Given the description of an element on the screen output the (x, y) to click on. 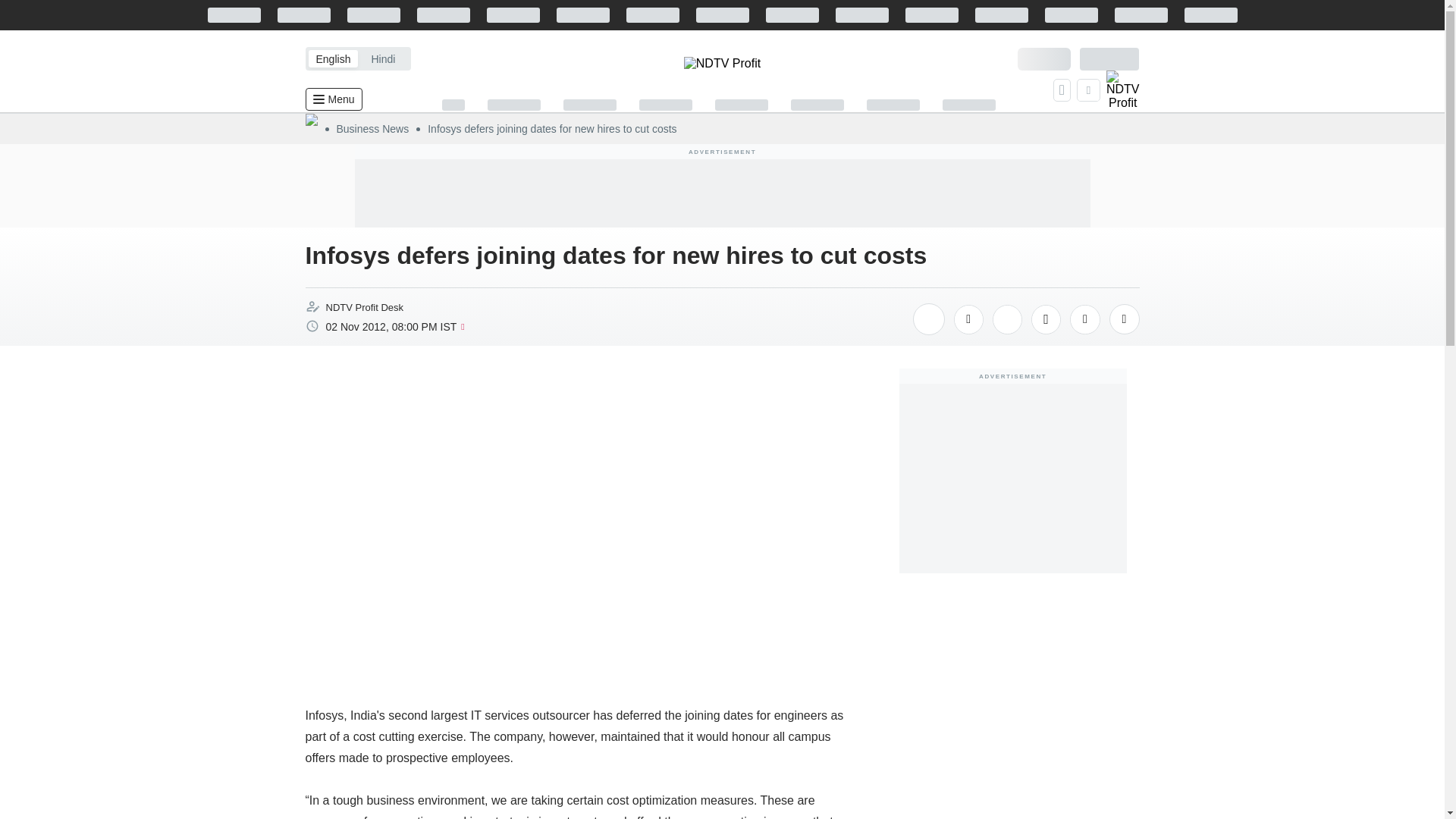
English (332, 58)
Hindi (382, 58)
Menu (332, 98)
Hindi (382, 58)
